Given the description of an element on the screen output the (x, y) to click on. 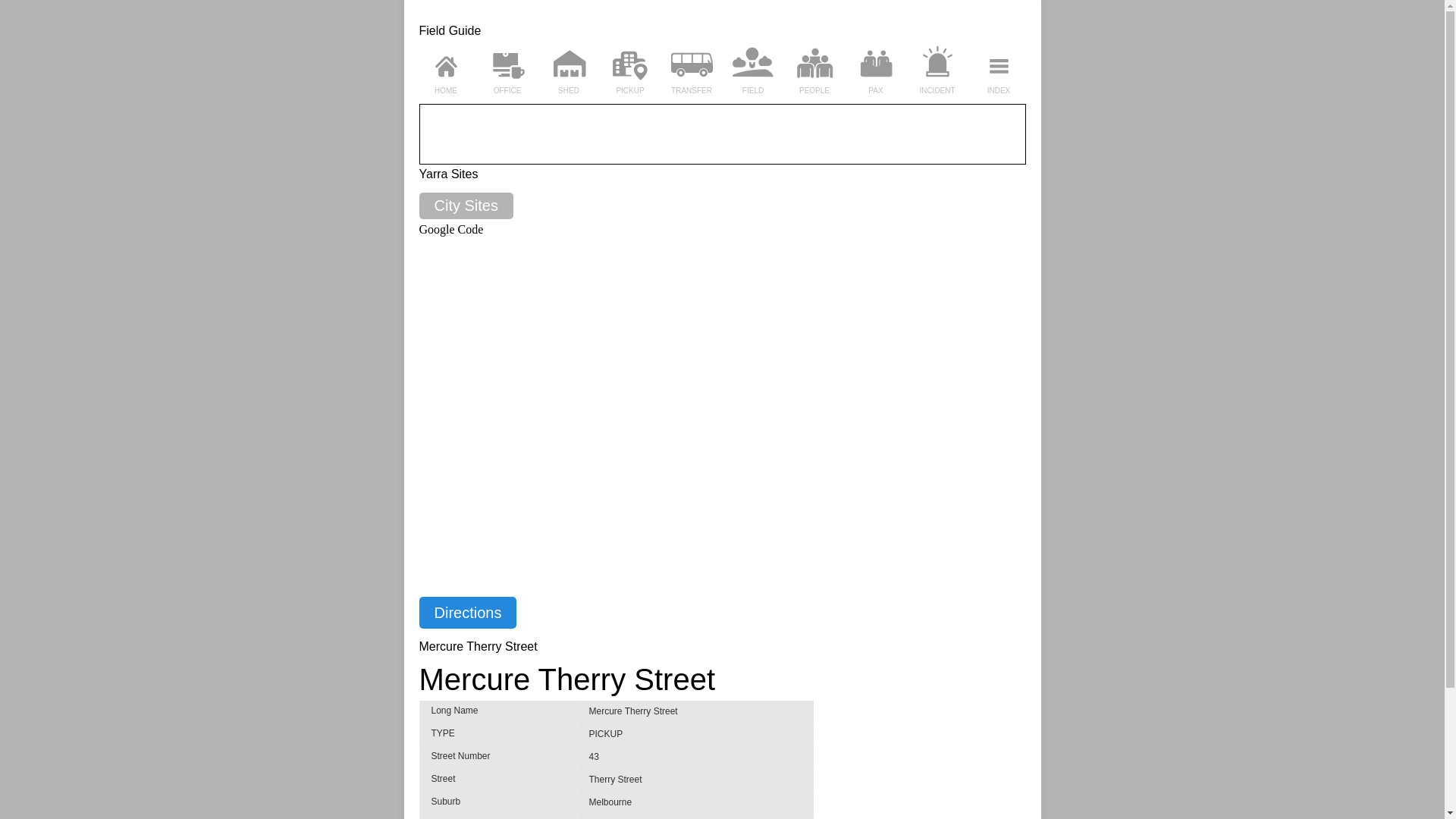
Yarra Sites Element type: text (721, 174)
SHED Element type: text (568, 90)
TRANSFER Element type: text (691, 90)
OFFICE Element type: text (507, 90)
INDEX Element type: text (999, 90)
HOME Element type: text (445, 90)
Directions Element type: text (467, 612)
INCIDENT Element type: text (936, 90)
FIELD Element type: text (753, 90)
Field Guide Element type: text (449, 30)
PAX Element type: text (876, 90)
PICKUP Element type: text (630, 90)
Mercure Therry Street Element type: text (721, 678)
City Sites Element type: text (465, 205)
PEOPLE Element type: text (813, 90)
